Given the description of an element on the screen output the (x, y) to click on. 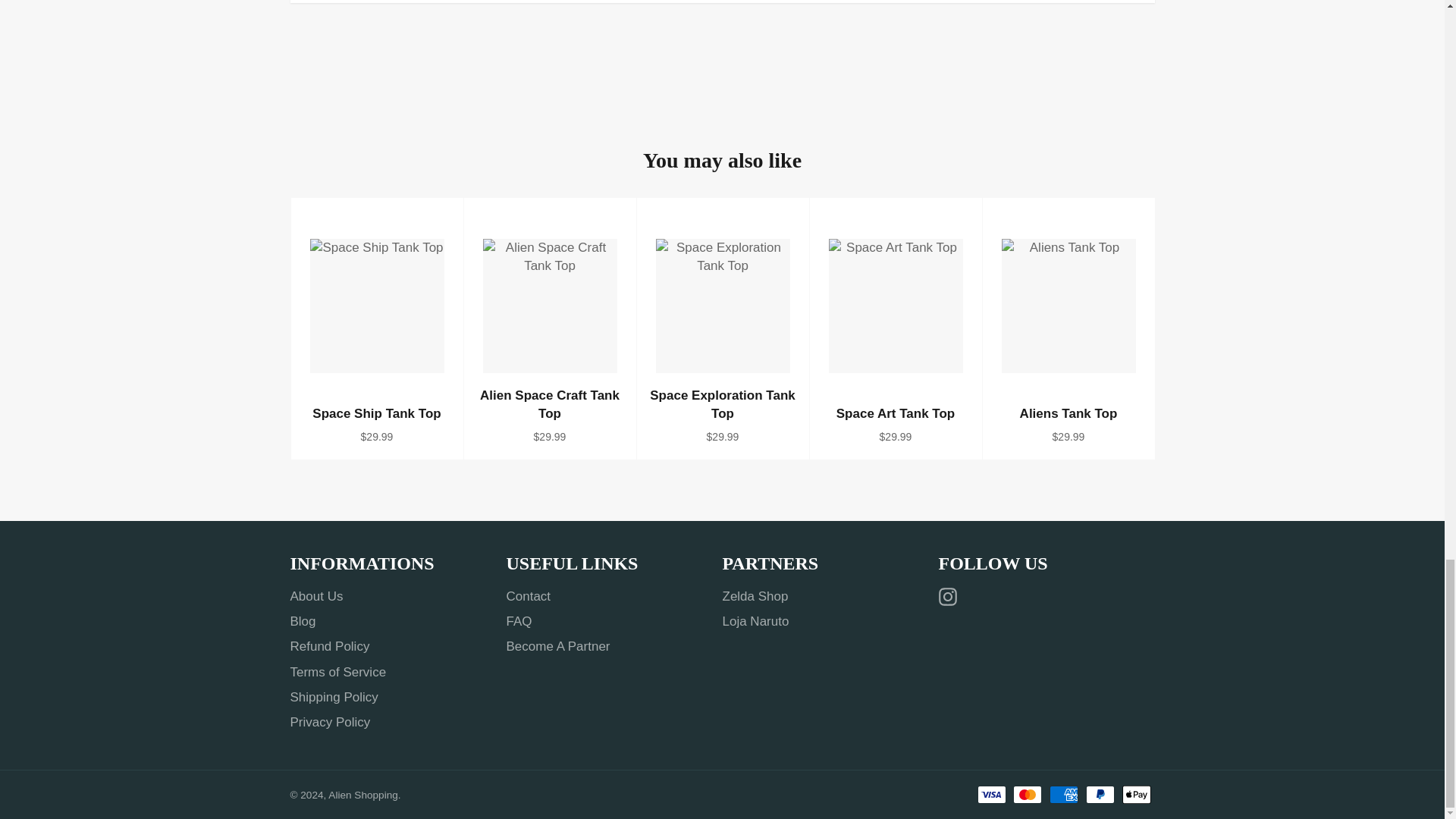
Alien Shopping on Instagram (951, 597)
